Given the description of an element on the screen output the (x, y) to click on. 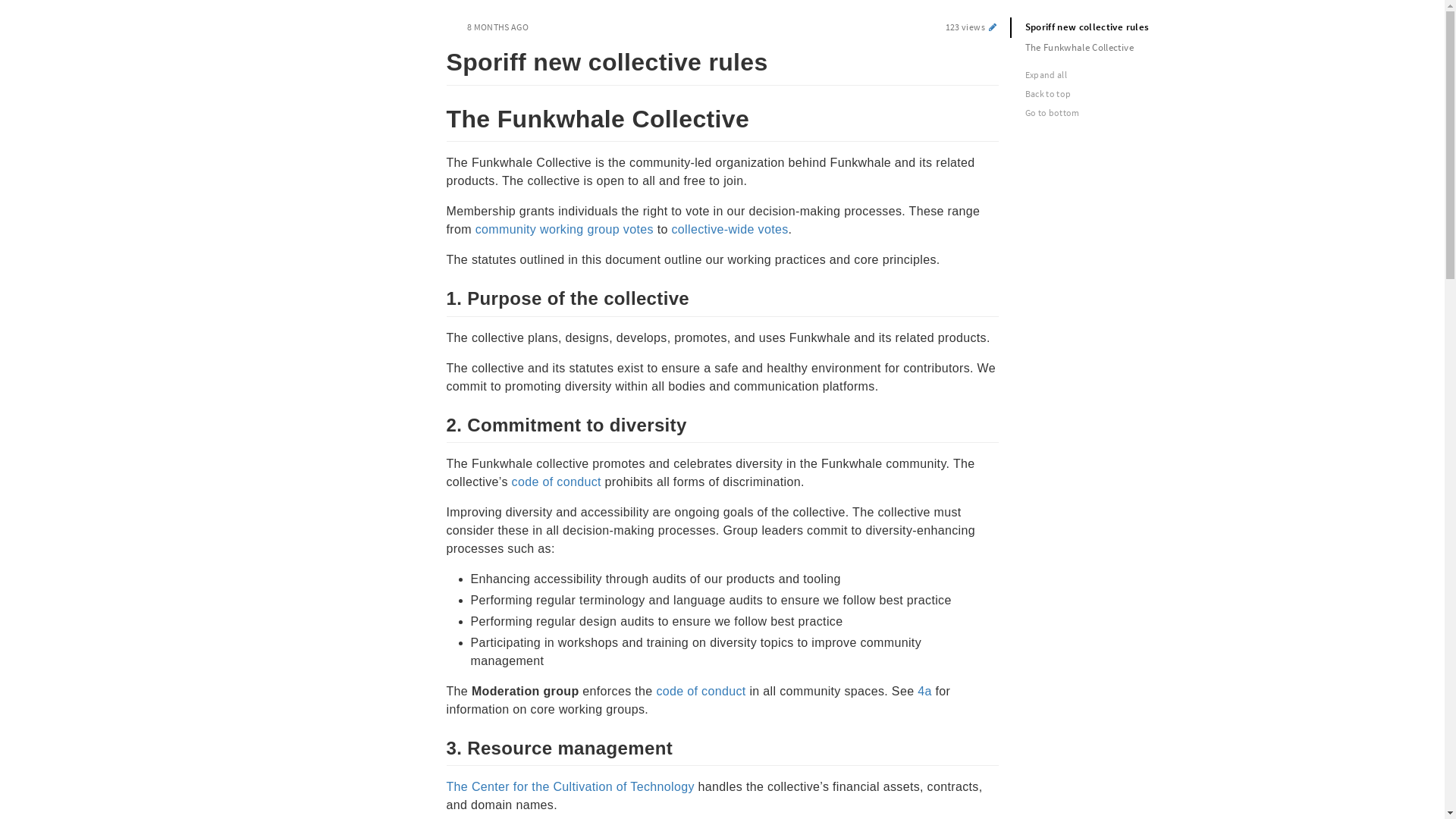
4a Element type: text (924, 690)
Sporiff-new-collective-rules Element type: hover (437, 59)
Back to top Element type: text (1115, 93)
collective-wide votes Element type: text (729, 228)
2-Commitment-to-diversity Element type: hover (437, 423)
Go to bottom Element type: text (1115, 112)
Sporiff new collective rules Element type: text (1111, 27)
The Center for the Cultivation of Technology Element type: text (569, 786)
Edit this note Element type: hover (991, 26)
The-Funkwhale-Collective Element type: hover (437, 115)
3-Resource-management Element type: hover (437, 746)
code of conduct Element type: text (556, 481)
code of conduct Element type: text (700, 690)
Expand all Element type: text (1115, 74)
community working group votes Element type: text (564, 228)
The Funkwhale Collective Element type: text (1111, 47)
1-Purpose-of-the-collective Element type: hover (437, 296)
